Given the description of an element on the screen output the (x, y) to click on. 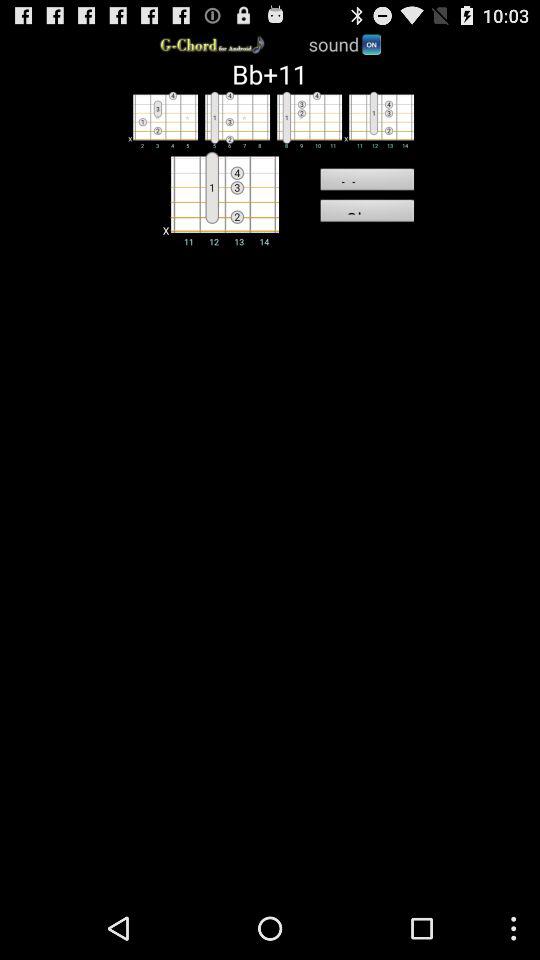
select the memo (366, 181)
